Given the description of an element on the screen output the (x, y) to click on. 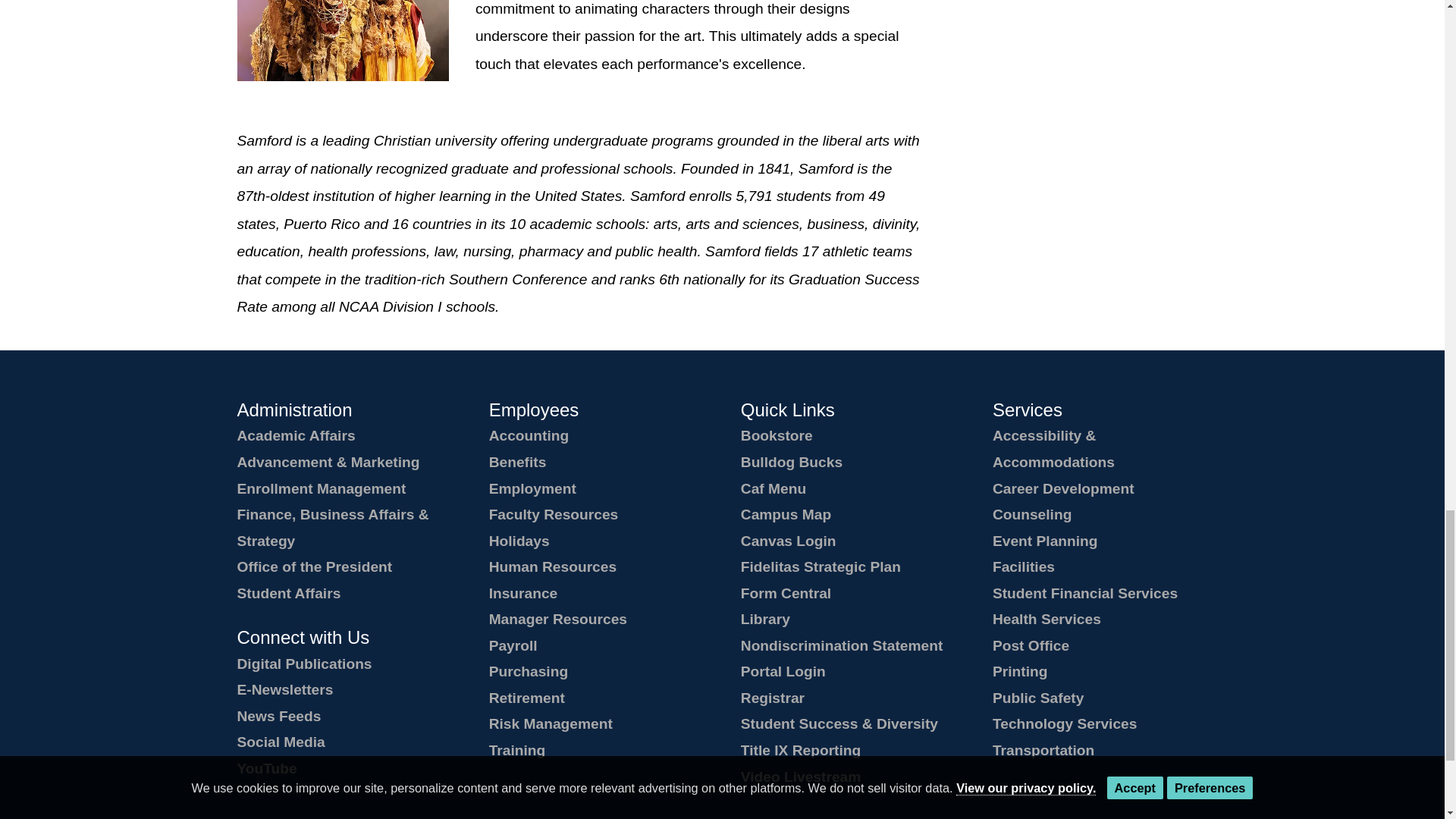
Subscribe to Samford's YouTube channel. (266, 768)
One Stop Student Financial Services (1084, 593)
Connect with us on social media. (279, 741)
Subscribe to Samford print publications. (303, 663)
Subscribe to Samford news feeds. (277, 715)
Subscribe to receive Samford e-Newsletters (284, 689)
